Given the description of an element on the screen output the (x, y) to click on. 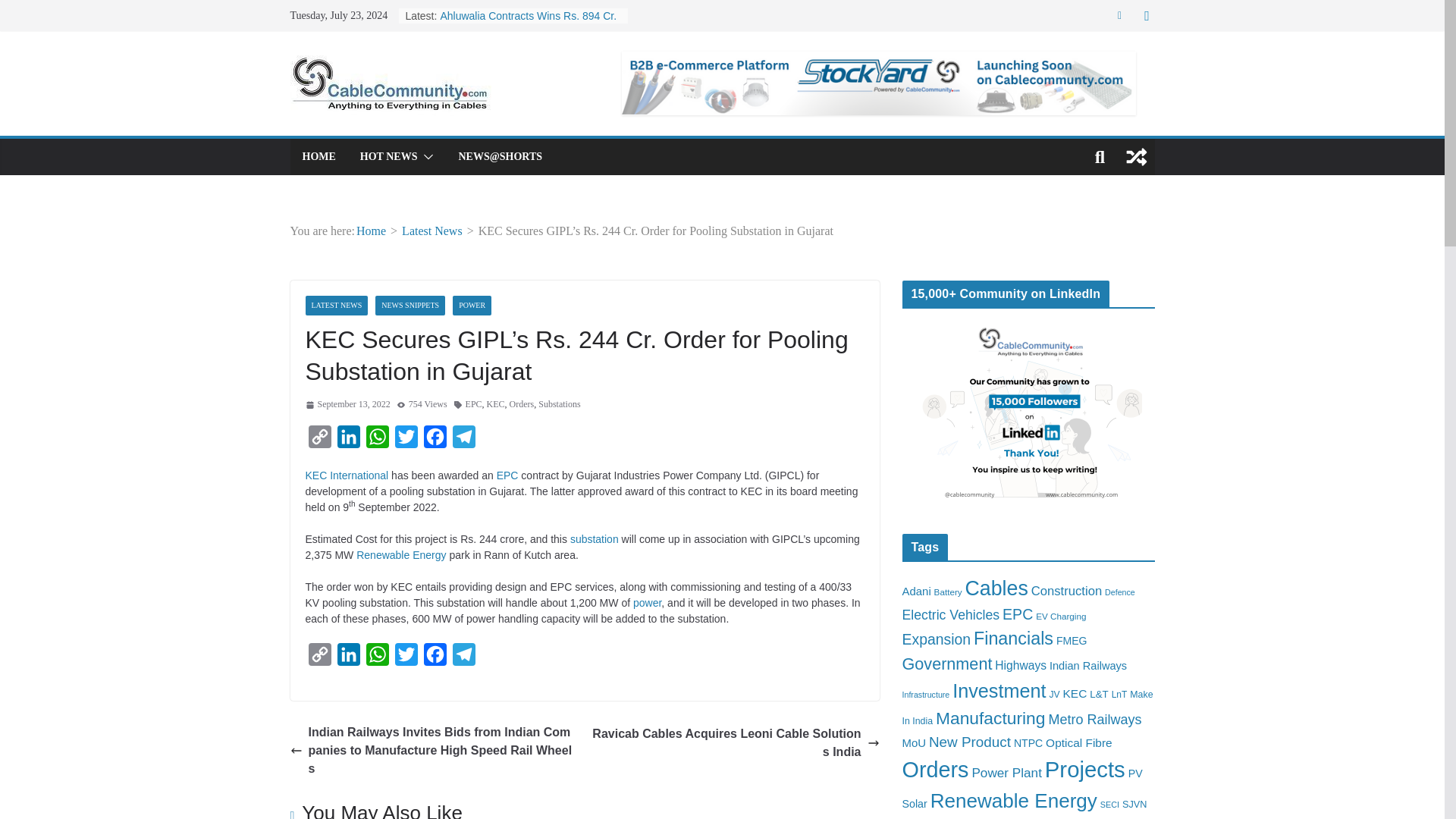
LinkedIn (347, 657)
Facebook (434, 440)
Copy Link (318, 657)
LATEST NEWS (336, 305)
View a random post (1136, 156)
Orders (521, 404)
Substations (558, 404)
Twitter (405, 657)
Facebook (434, 440)
NEWS SNIPPETS (410, 305)
Telegram (462, 440)
EPC (507, 475)
Telegram (462, 440)
WhatsApp (376, 657)
